Given the description of an element on the screen output the (x, y) to click on. 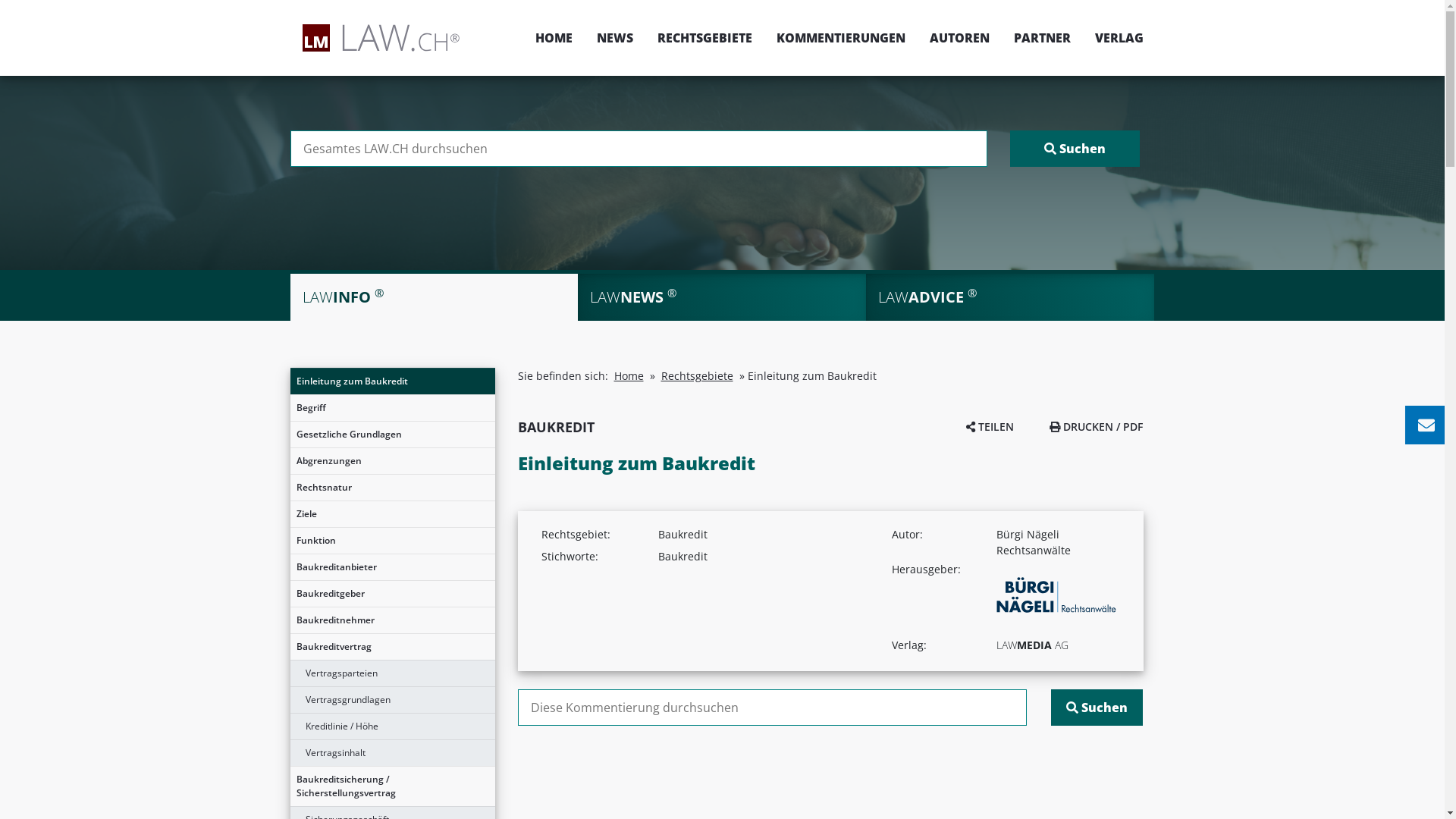
Einleitung zum Baukredit Element type: text (391, 381)
Gesetzliche Grundlagen Element type: text (391, 434)
NEWS Element type: text (613, 37)
Begriff Element type: text (391, 407)
Rechtsnatur Element type: text (391, 487)
Vertragsparteien Element type: text (391, 673)
 TEILEN Element type: text (989, 426)
Suchen nach: Element type: hover (637, 148)
Rechtsgebiete Element type: text (697, 375)
Baukreditvertrag Element type: text (391, 646)
Funktion Element type: text (391, 540)
Baukreditanbieter Element type: text (391, 567)
Baukreditsicherung / Sicherstellungsvertrag Element type: text (391, 786)
RECHTSGEBIETE Element type: text (703, 37)
KOMMENTIERUNGEN Element type: text (840, 37)
Baukreditnehmer Element type: text (391, 620)
Vertragsgrundlagen Element type: text (391, 699)
VERLAG Element type: text (1112, 37)
Vertragsinhalt Element type: text (391, 752)
Suchen nach: Element type: hover (771, 707)
Baukreditgeber Element type: text (391, 593)
Ziele Element type: text (391, 514)
HOME Element type: text (553, 37)
Abgrenzungen Element type: text (391, 460)
 DRUCKEN / PDF Element type: text (1095, 426)
Home Element type: text (628, 375)
PARTNER Element type: text (1041, 37)
AUTOREN Element type: text (959, 37)
